Given the description of an element on the screen output the (x, y) to click on. 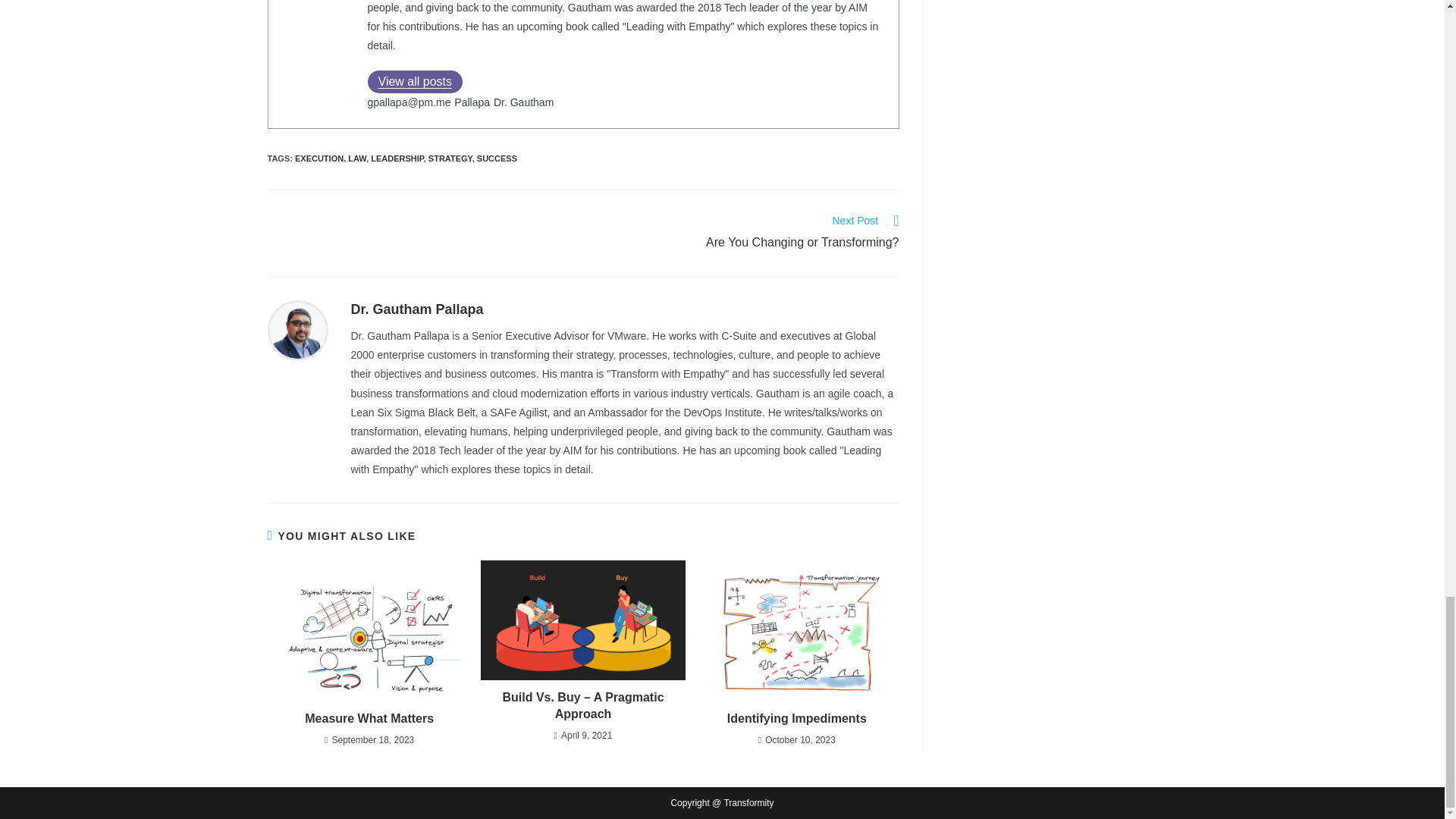
View all posts (414, 81)
Visit author page (416, 309)
View all posts (414, 81)
LAW (356, 157)
LEADERSHIP (748, 232)
SUCCESS (397, 157)
Dr. Gautham Pallapa (496, 157)
EXECUTION (416, 309)
Visit author page (319, 157)
Measure What Matters (296, 329)
STRATEGY (368, 718)
